Given the description of an element on the screen output the (x, y) to click on. 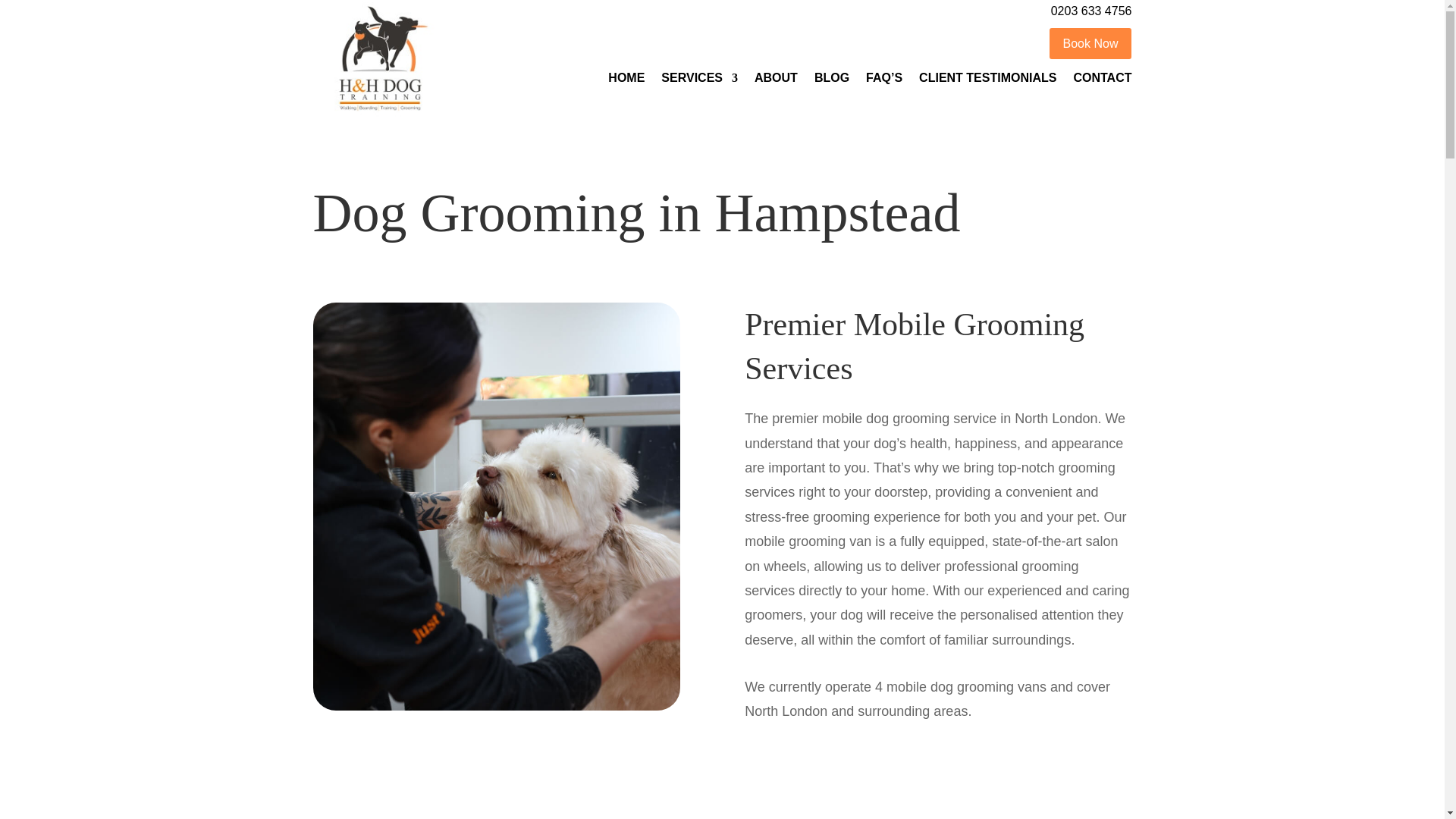
SERVICES (699, 80)
Book Now (1090, 42)
CONTACT (1102, 80)
CLIENT TESTIMONIALS (987, 80)
HOME (626, 80)
ABOUT (775, 80)
BLOG (830, 80)
